Given the description of an element on the screen output the (x, y) to click on. 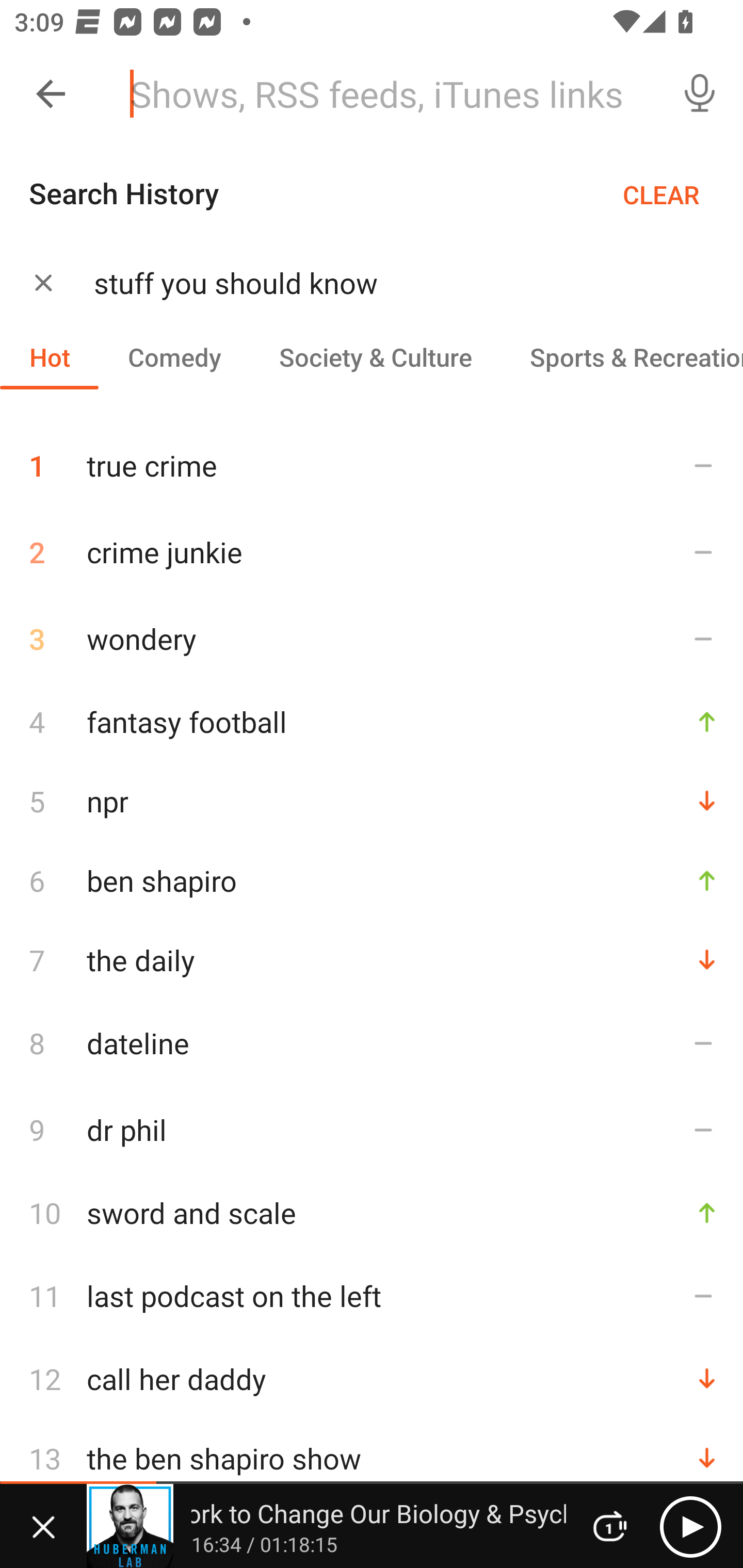
Collapse (50, 93)
Voice Search (699, 93)
Shows, RSS feeds, iTunes links (385, 94)
CLEAR (660, 194)
stuff you should know (393, 282)
 Clear (43, 282)
Hot (49, 356)
Comedy (173, 356)
Society & Culture (374, 356)
Sports & Recreation (621, 356)
1 true crime (371, 457)
2 crime junkie (371, 551)
3 wondery (371, 638)
4 fantasy football (371, 722)
5 npr (371, 801)
6 ben shapiro (371, 880)
7 the daily (371, 960)
8 dateline (371, 1043)
9 dr phil (371, 1129)
10 sword and scale (371, 1212)
11 last podcast on the left (371, 1295)
12 call her daddy (371, 1379)
13 the ben shapiro show (371, 1458)
Play (690, 1526)
